Given the description of an element on the screen output the (x, y) to click on. 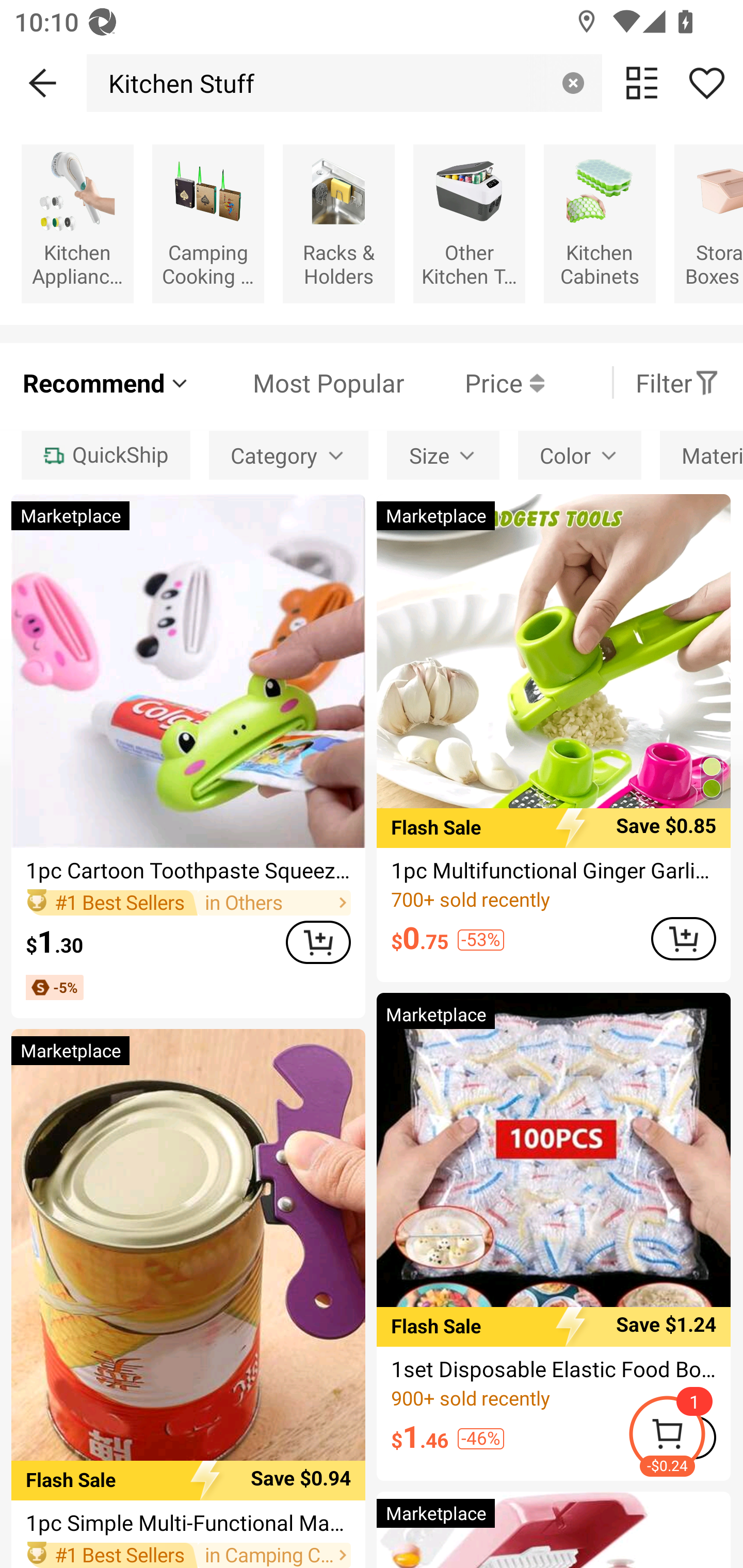
Kitchen Stuff (175, 82)
Clear (572, 82)
change view (641, 82)
Share (706, 82)
Kitchen Appliance Parts (77, 223)
Camping Cooking Utensils (208, 223)
Racks & Holders (338, 223)
Other Kitchen Tools (469, 223)
Kitchen Cabinets (599, 223)
Recommend (106, 382)
Most Popular (297, 382)
Price (474, 382)
Filter (677, 382)
QuickShip (105, 455)
Category (288, 455)
Size (443, 455)
Color (579, 455)
Material (701, 455)
#1 Best Sellers in Others (188, 902)
ADD TO CART (683, 938)
ADD TO CART (318, 942)
-$0.24 (685, 1436)
#1 Best Sellers in Camping Cooking Utensils (188, 1554)
